Given the description of an element on the screen output the (x, y) to click on. 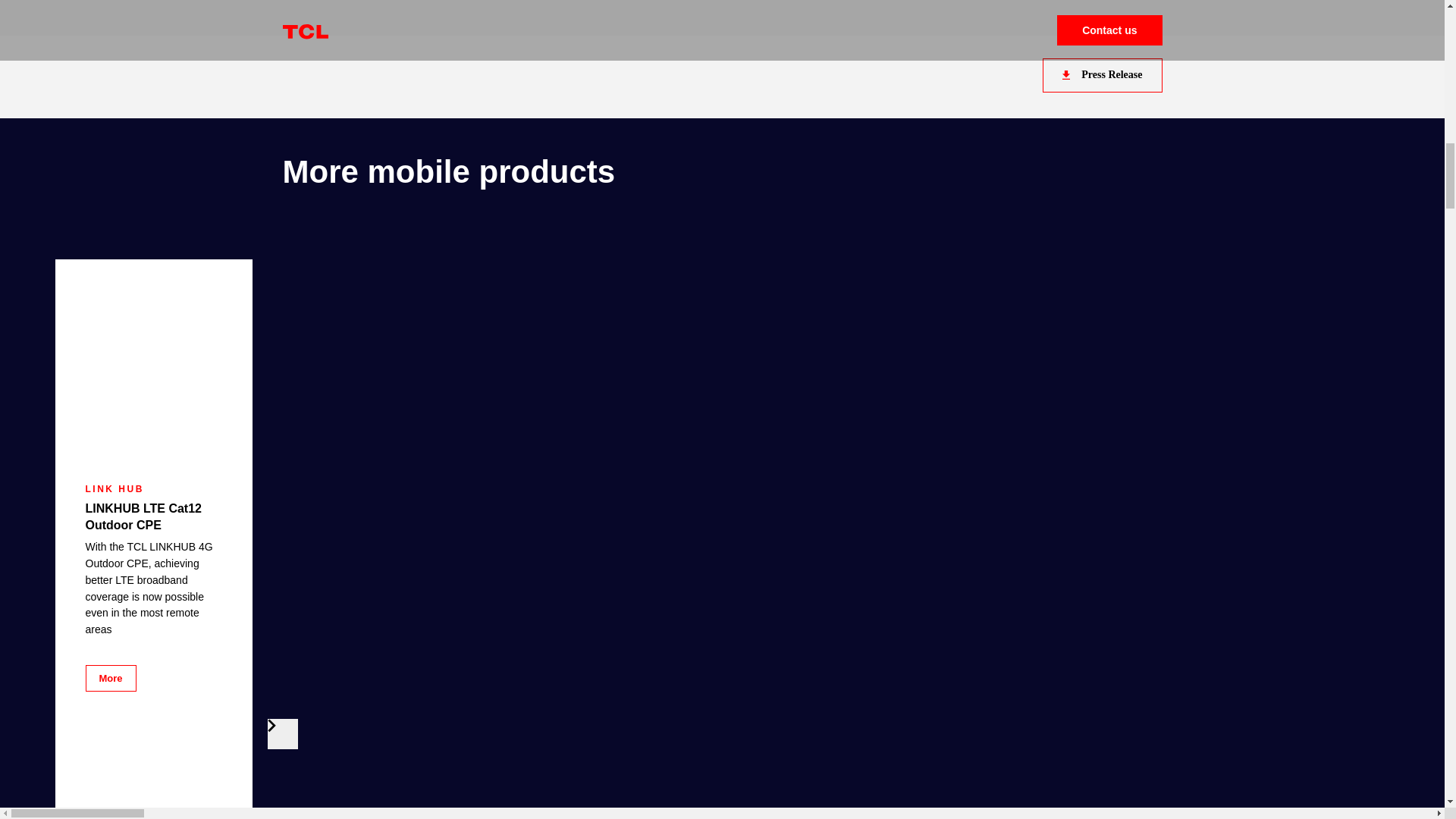
More (109, 678)
Press Release (1101, 75)
